Given the description of an element on the screen output the (x, y) to click on. 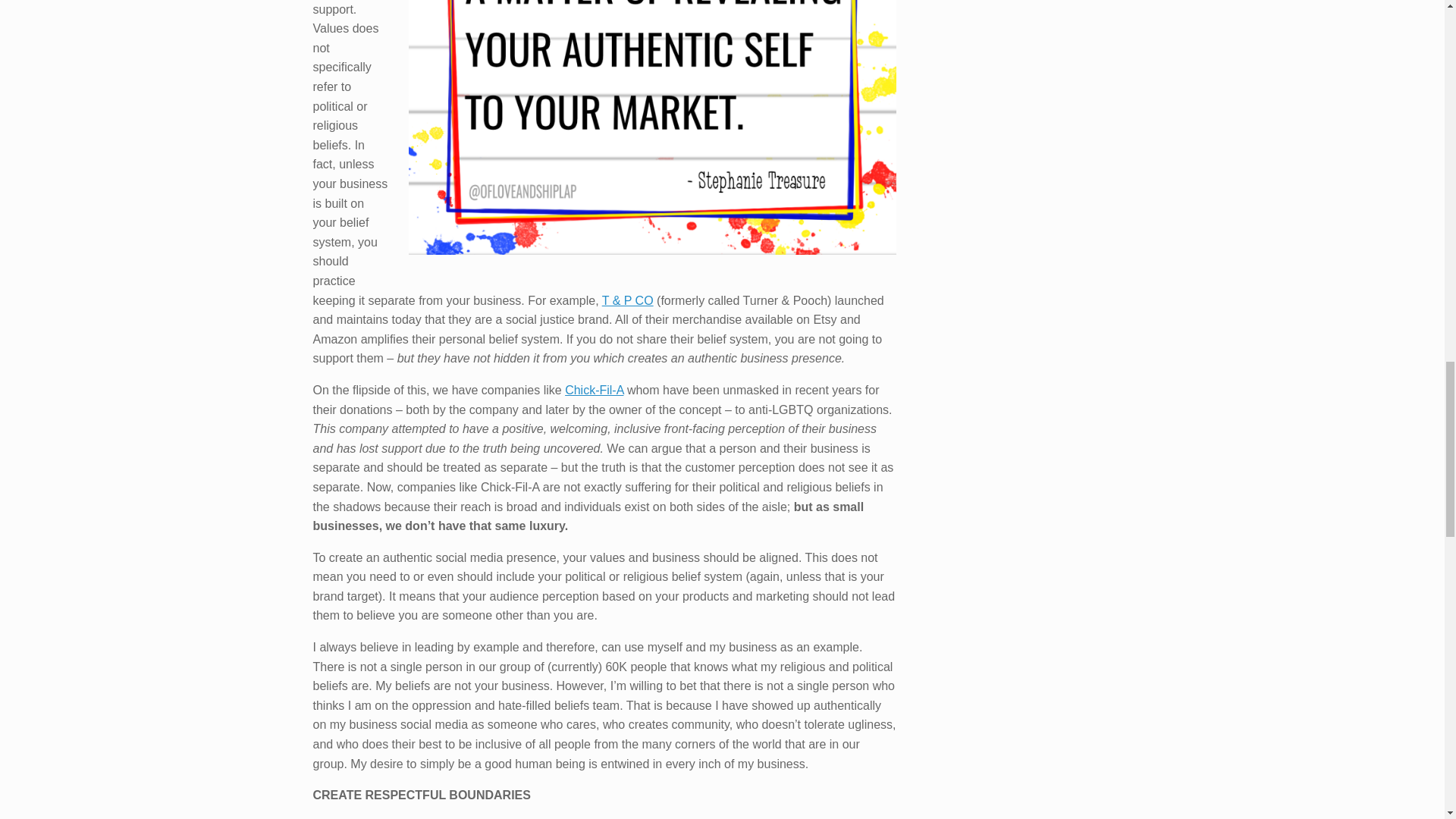
Chick-Fil-A (593, 390)
